Given the description of an element on the screen output the (x, y) to click on. 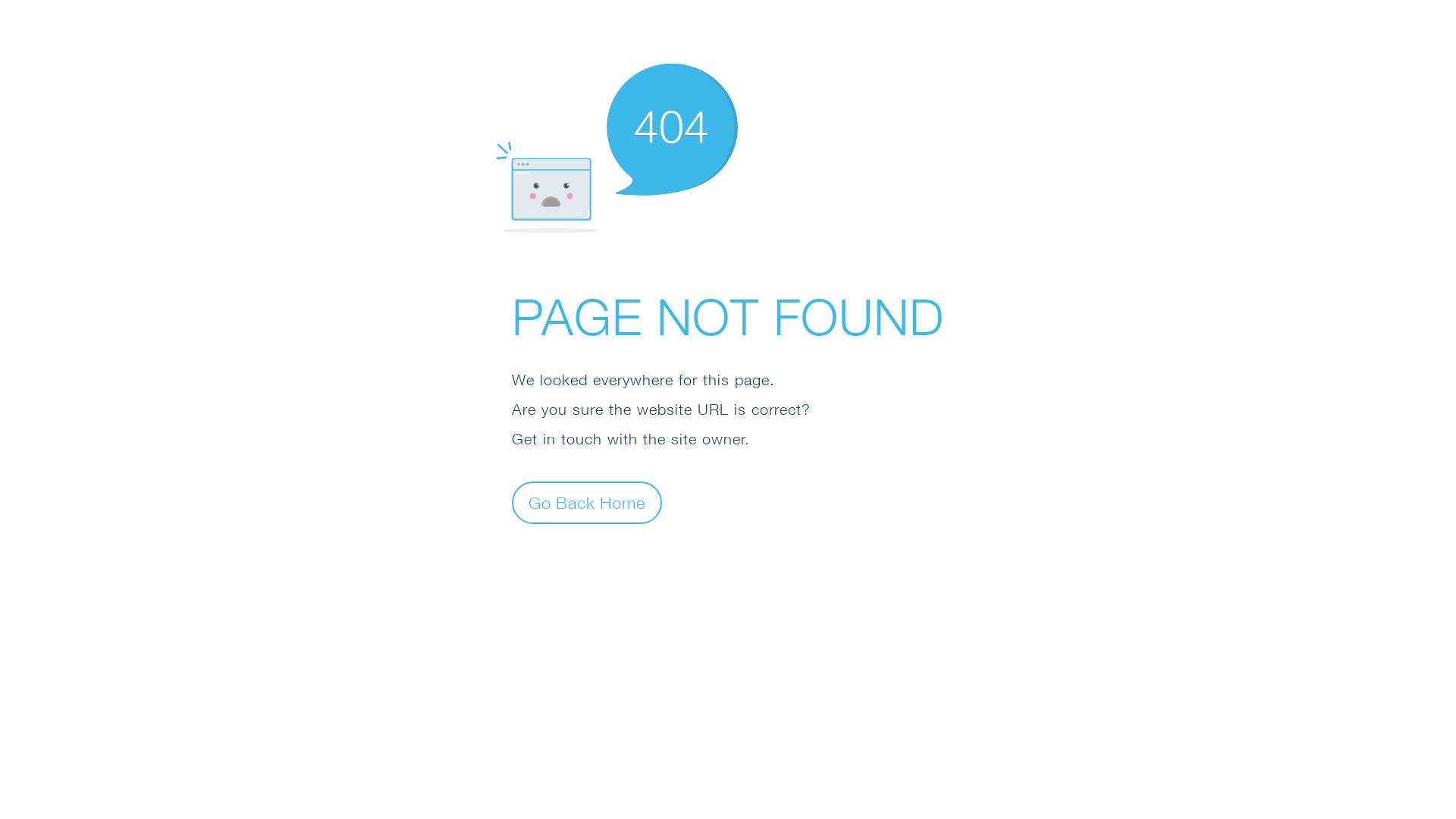
Go Back Home Element type: text (586, 502)
